Given the description of an element on the screen output the (x, y) to click on. 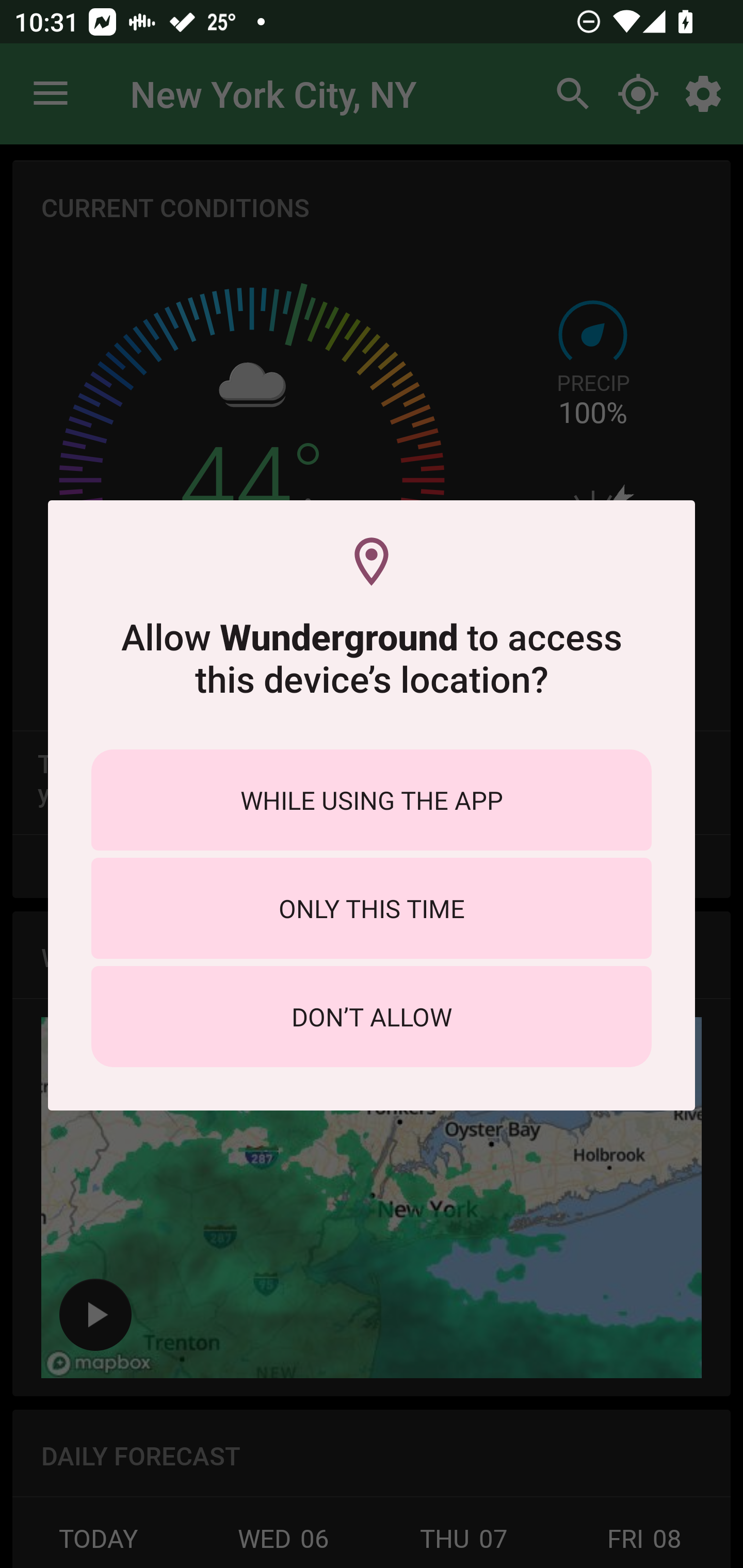
WHILE USING THE APP (371, 799)
ONLY THIS TIME (371, 908)
DON’T ALLOW (371, 1016)
